Given the description of an element on the screen output the (x, y) to click on. 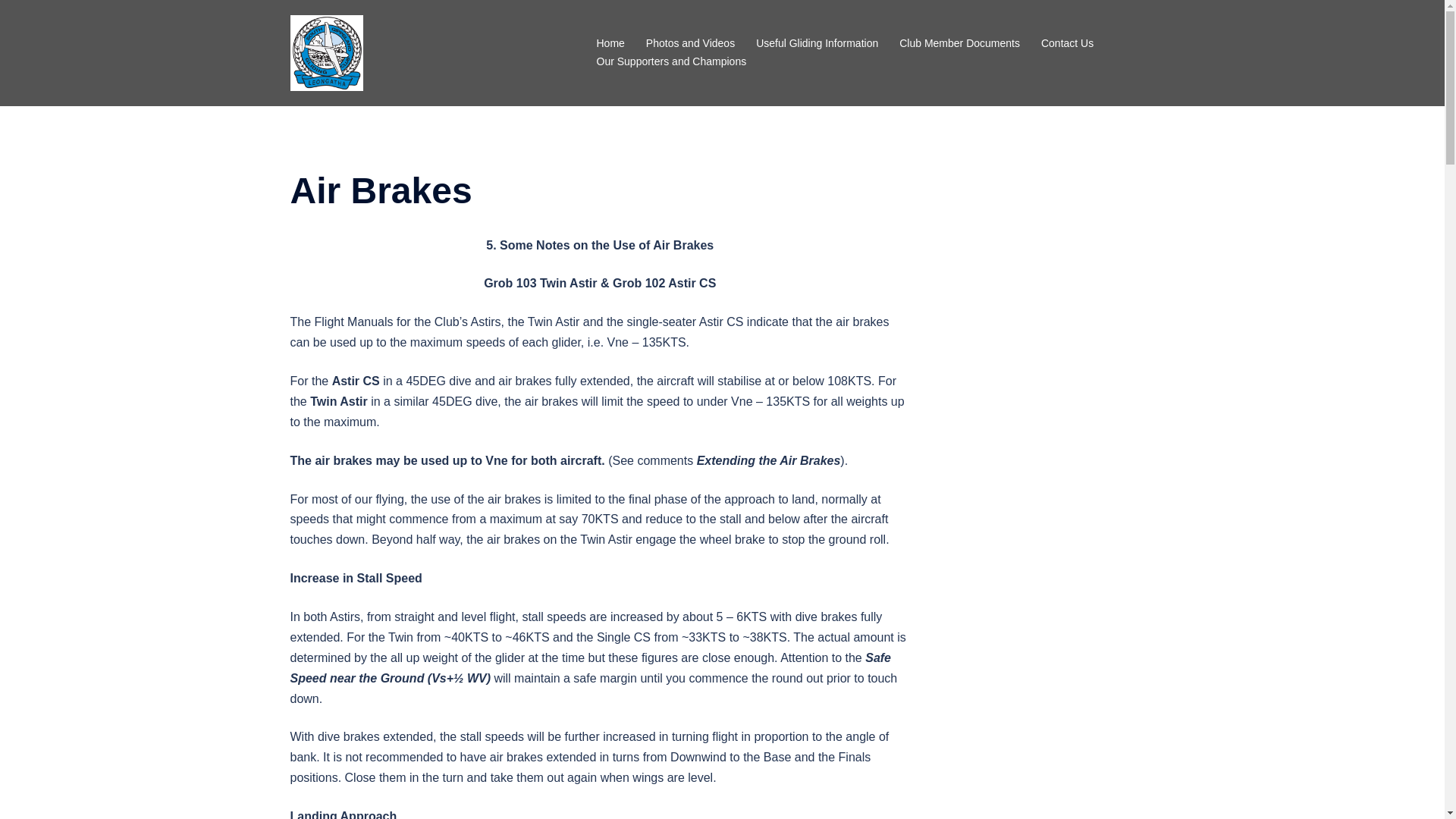
Contact Us Element type: text (1067, 43)
Useful Gliding Information Element type: text (817, 43)
Our Supporters and Champions Element type: text (671, 62)
South Gippsland Gliding Club Element type: hover (325, 51)
Photos and Videos Element type: text (690, 43)
Club Member Documents Element type: text (959, 43)
Home Element type: text (610, 43)
